Given the description of an element on the screen output the (x, y) to click on. 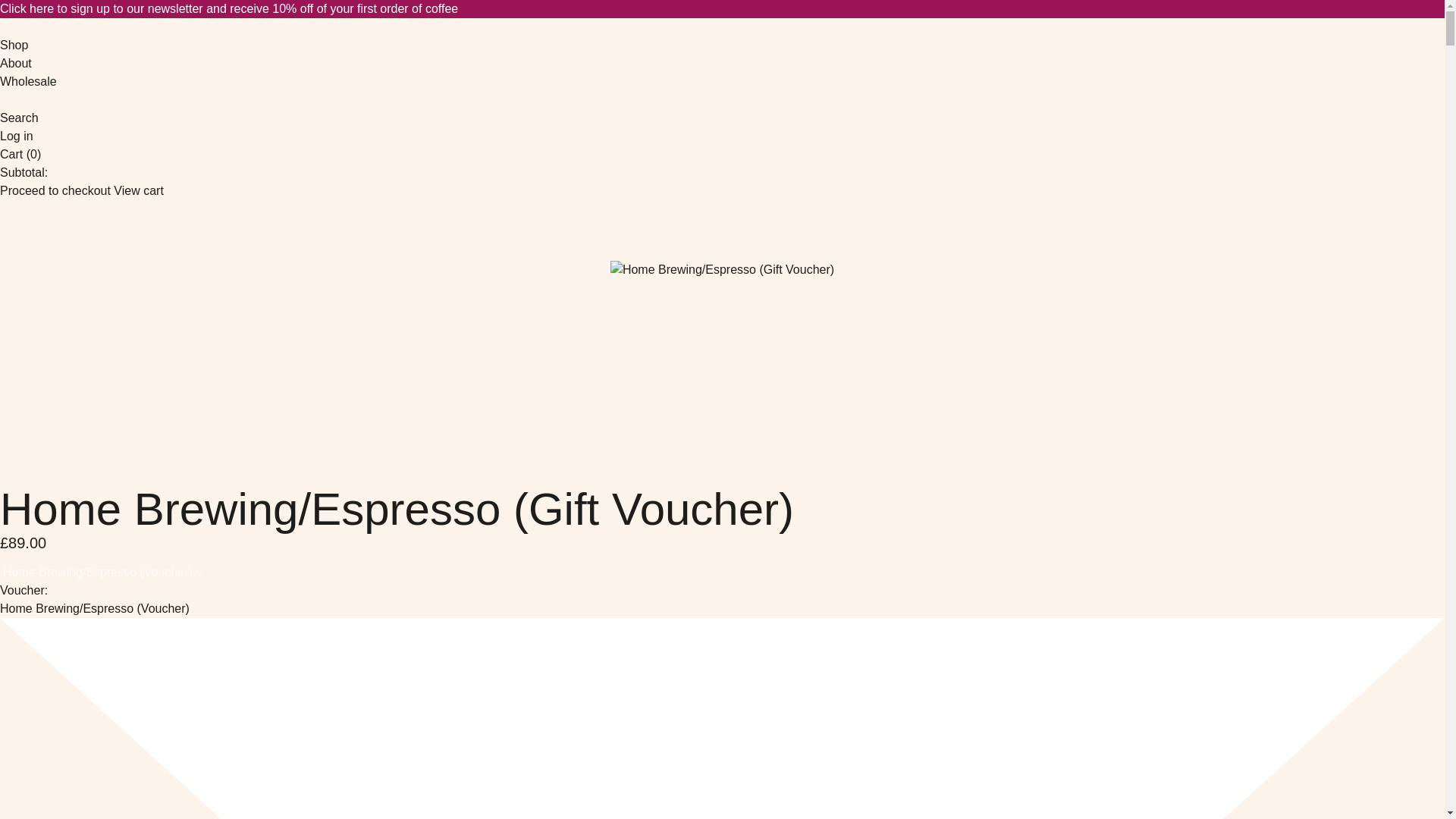
Shop (13, 45)
Log in (16, 136)
View cart (138, 190)
About (16, 63)
Search (19, 117)
Proceed to checkout (55, 190)
Wholesale (28, 81)
